Given the description of an element on the screen output the (x, y) to click on. 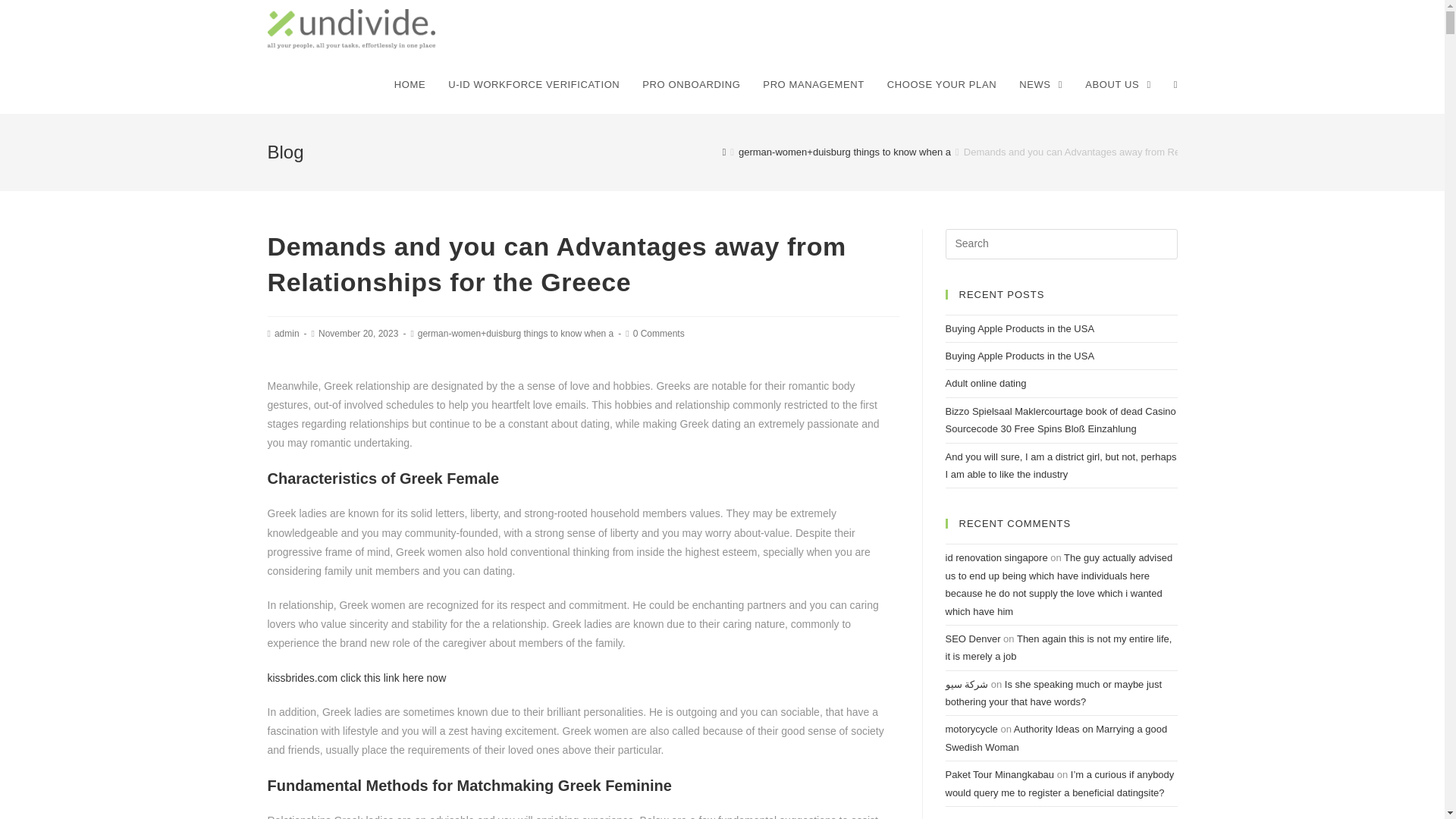
Adult online dating (985, 383)
admin (287, 333)
0 Comments (658, 333)
Buying Apple Products in the USA (1019, 355)
U-ID WORKFORCE VERIFICATION (533, 84)
Posts by admin (287, 333)
PRO ONBOARDING (690, 84)
NEWS (1040, 84)
HOME (409, 84)
Buying Apple Products in the USA (1019, 328)
PRO MANAGEMENT (813, 84)
kissbrides.com click this link here now (355, 677)
id renovation singapore (995, 557)
motorycycle (970, 728)
